Given the description of an element on the screen output the (x, y) to click on. 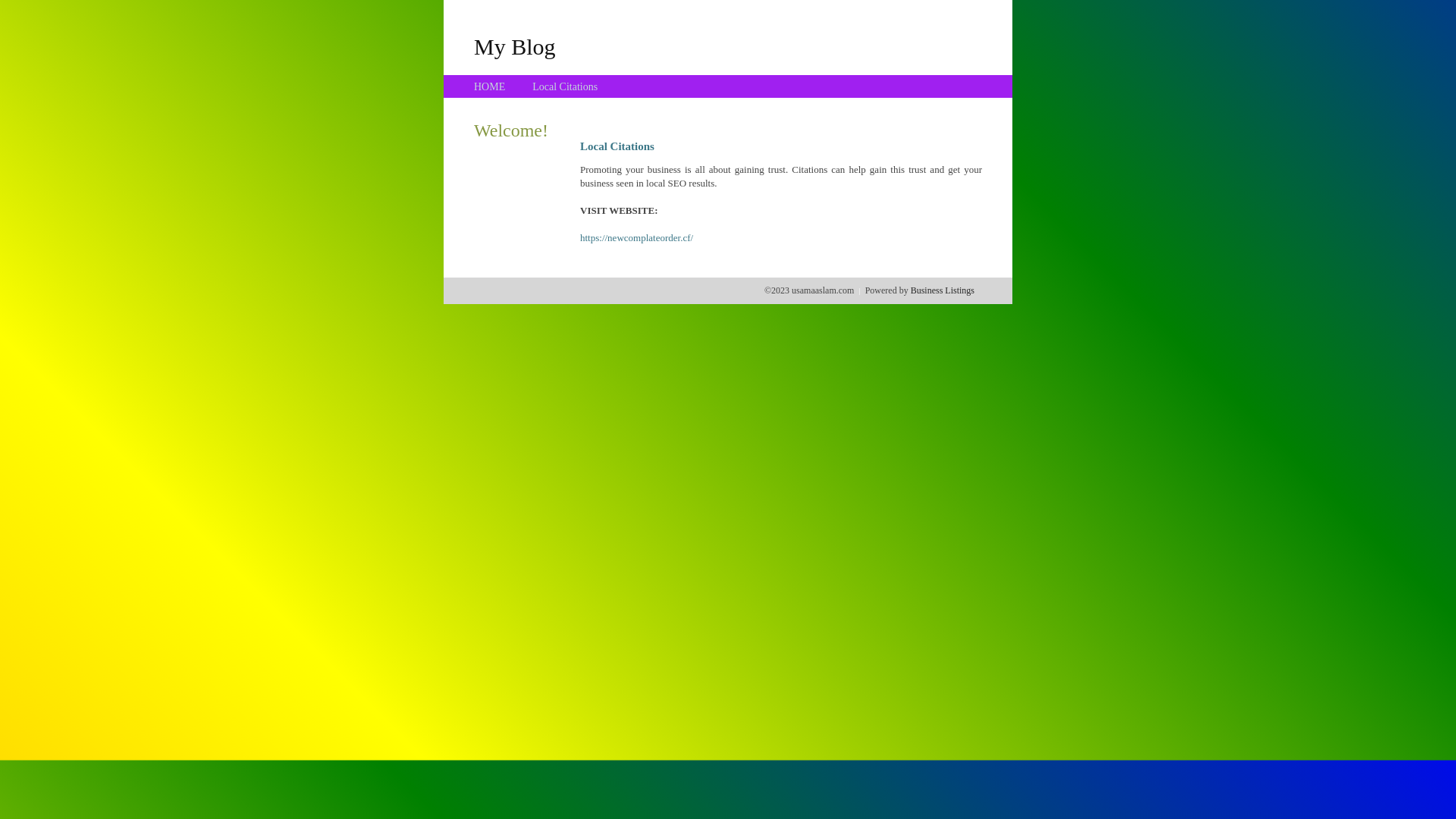
https://newcomplateorder.cf/ Element type: text (636, 237)
Business Listings Element type: text (942, 290)
My Blog Element type: text (514, 46)
HOME Element type: text (489, 86)
Local Citations Element type: text (564, 86)
